Given the description of an element on the screen output the (x, y) to click on. 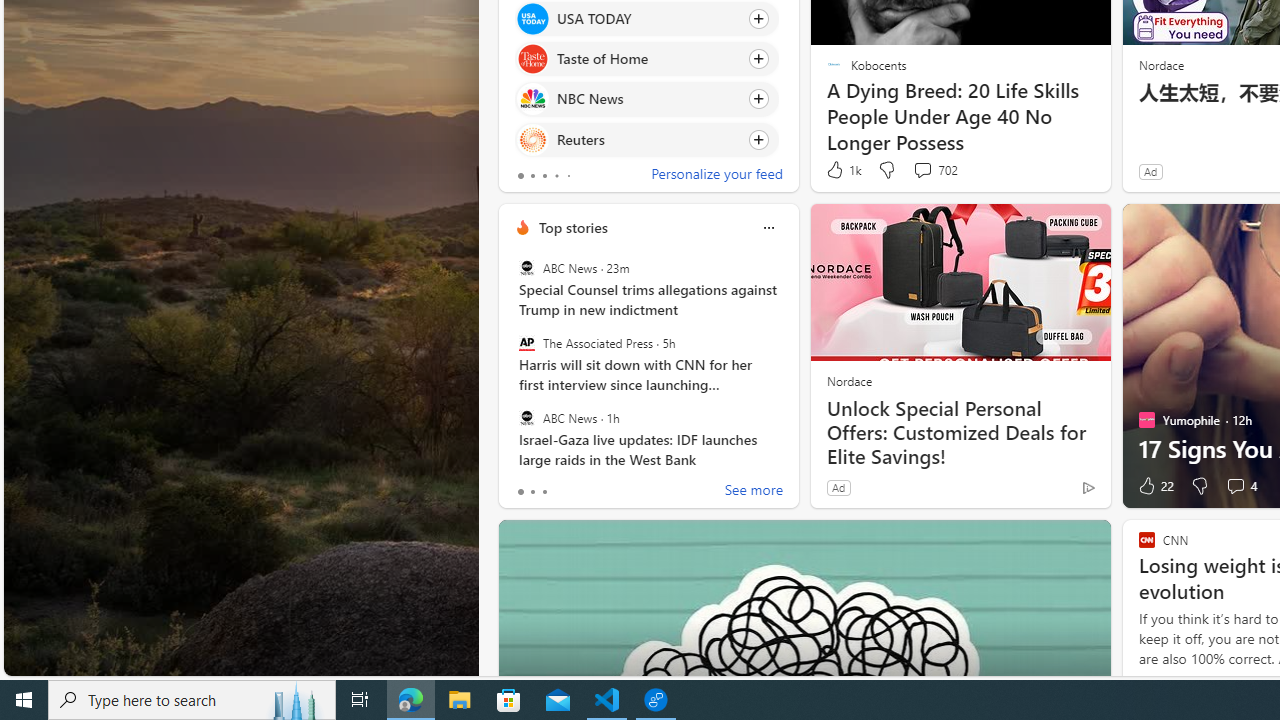
USA TODAY (532, 18)
tab-0 (520, 491)
NBC News (532, 98)
Top stories (572, 227)
Click to follow source NBC News (646, 99)
22 Like (1154, 485)
tab-2 (543, 491)
Click to follow source Reuters (646, 138)
1k Like (842, 170)
Dislike (1199, 485)
